Given the description of an element on the screen output the (x, y) to click on. 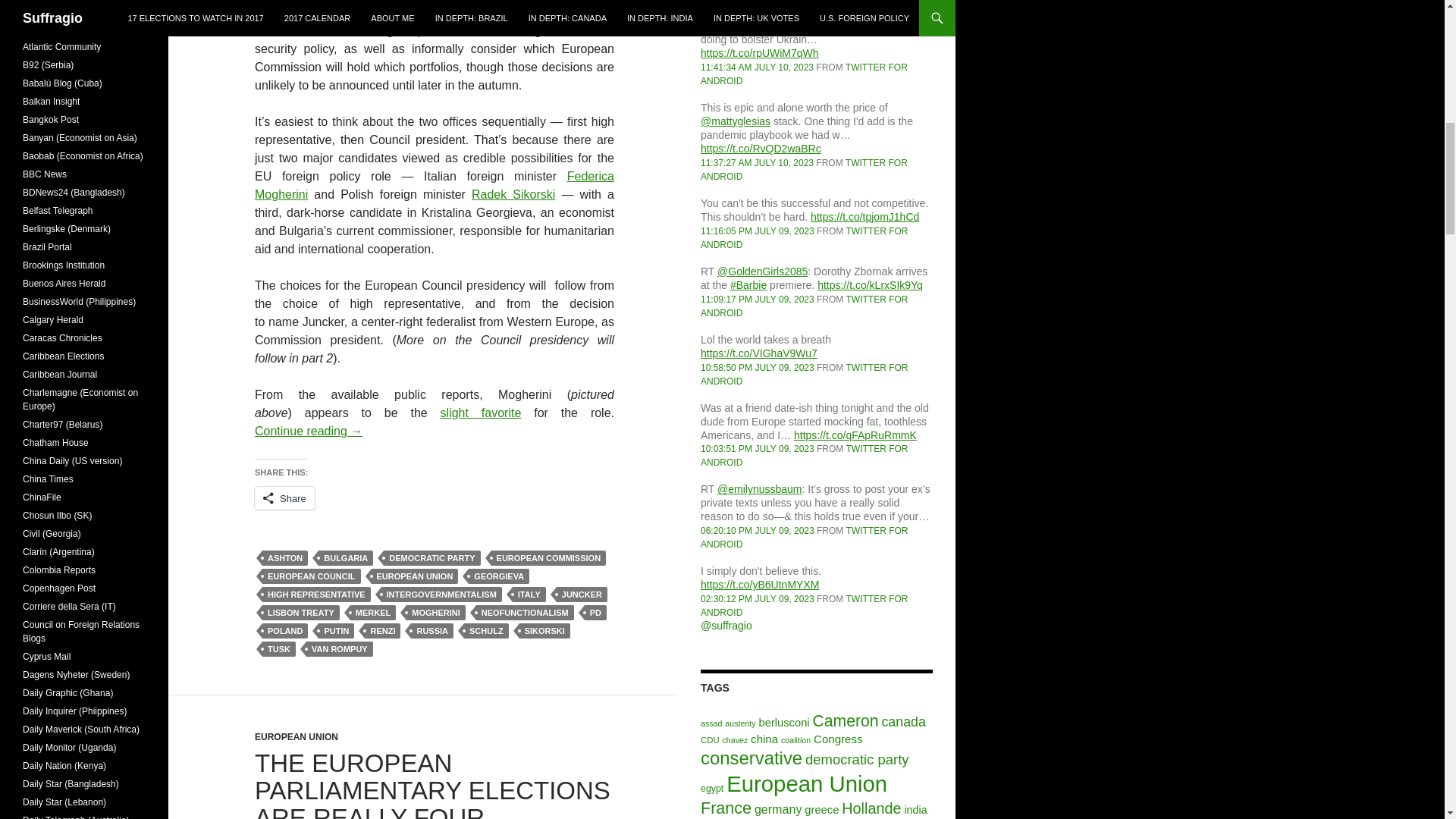
BULGARIA (345, 557)
EUROPEAN UNION (414, 575)
slight favorite (481, 412)
EUROPEAN COMMISSION (549, 557)
Share (284, 497)
ASHTON (284, 557)
Federica Mogherini (434, 184)
EUROPEAN COUNCIL (311, 575)
DEMOCRATIC PARTY (432, 557)
Radek Sikorski (512, 194)
